Given the description of an element on the screen output the (x, y) to click on. 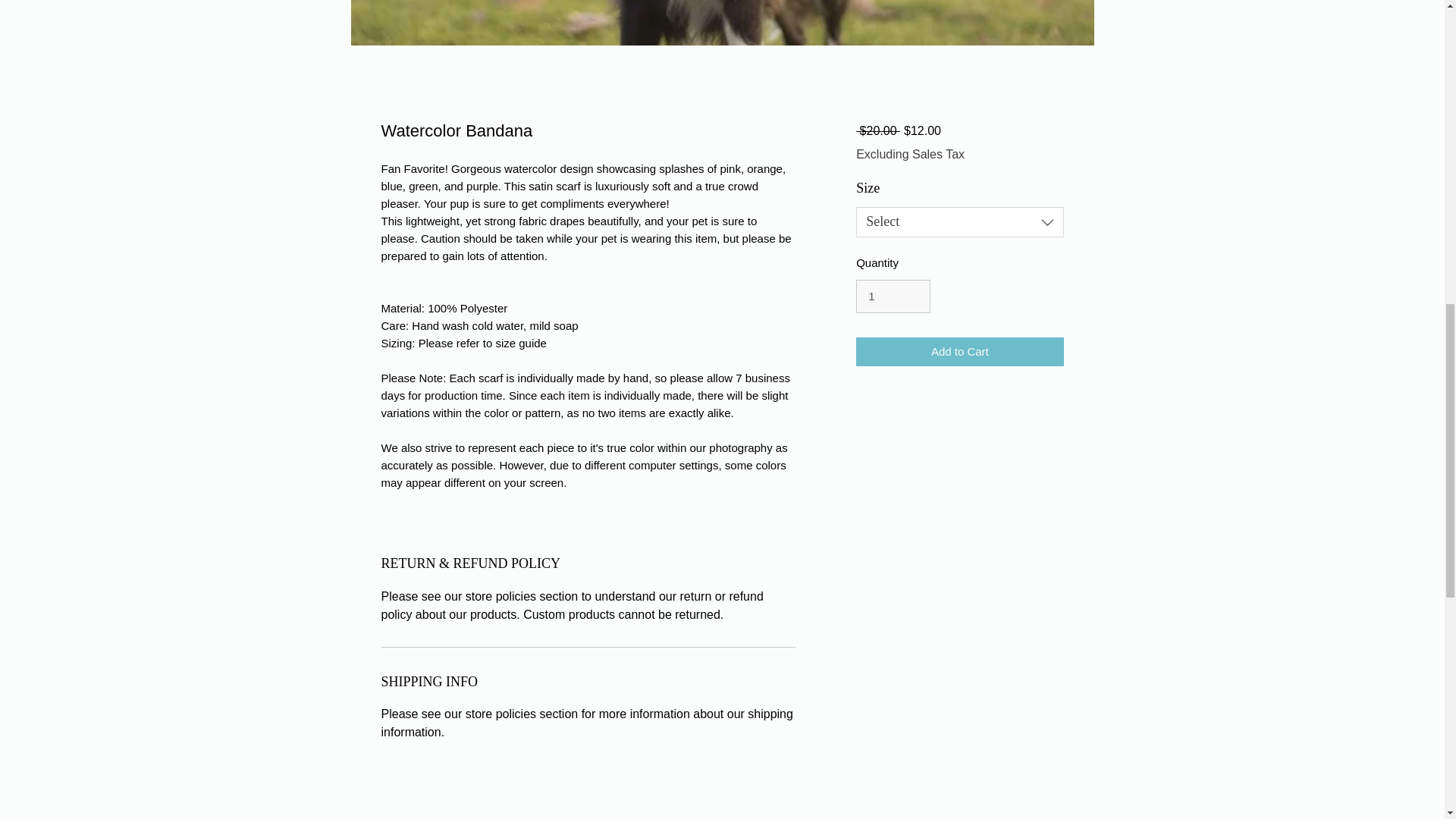
Select (959, 222)
Add to Cart (959, 351)
1 (893, 296)
